Given the description of an element on the screen output the (x, y) to click on. 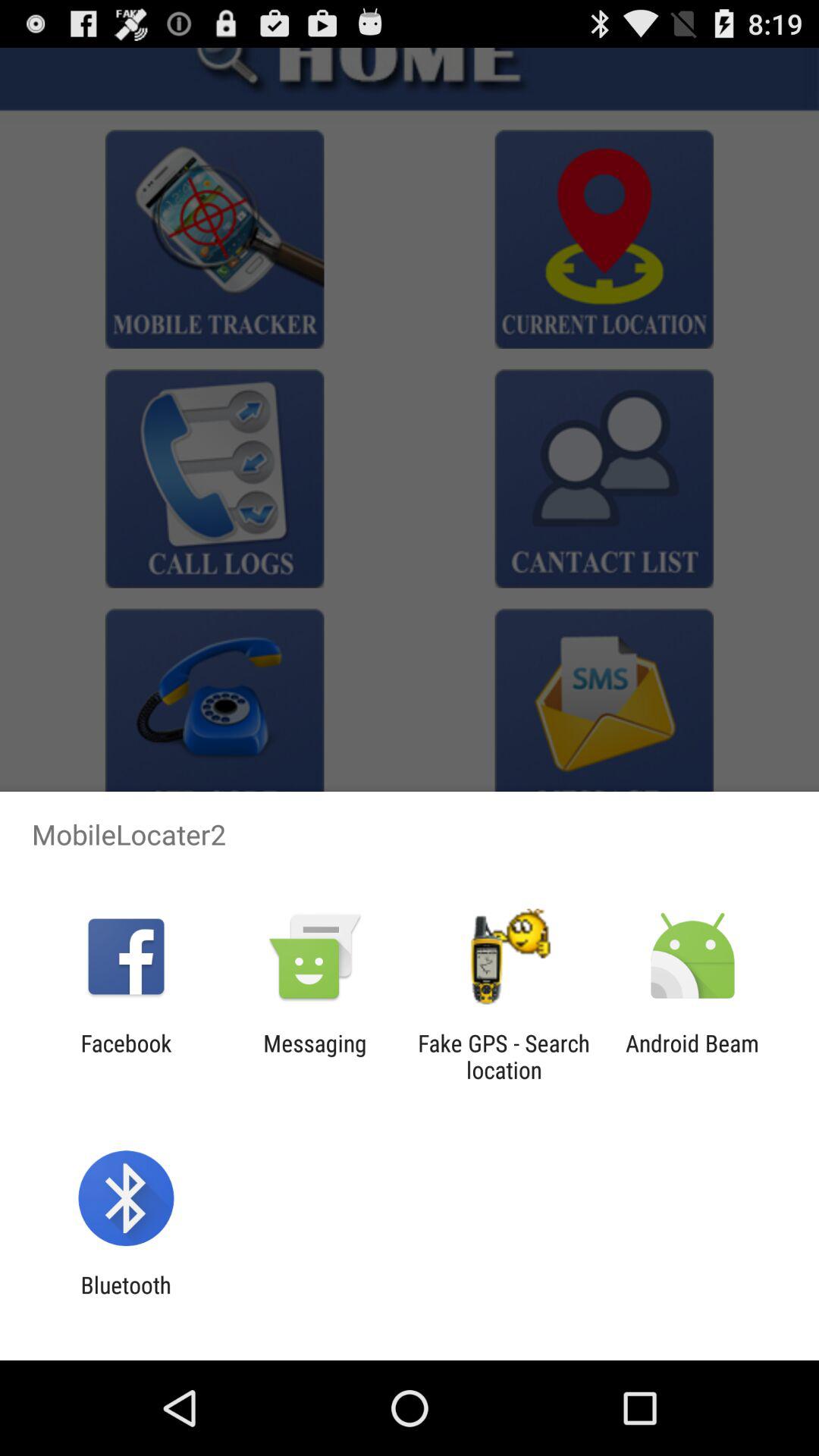
turn off app next to facebook (314, 1056)
